Given the description of an element on the screen output the (x, y) to click on. 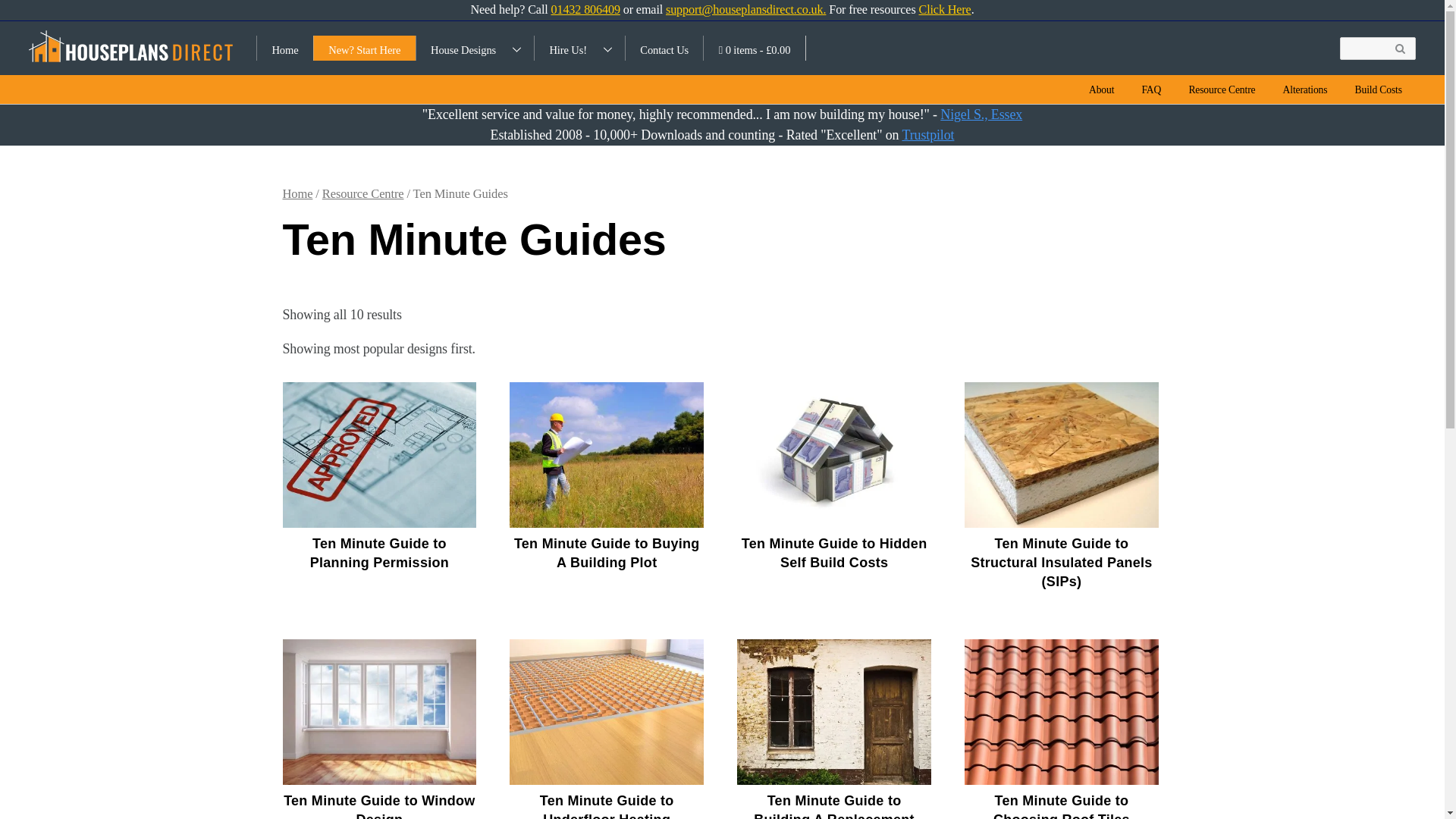
Houseplansdirect (130, 42)
Trustpilot (927, 134)
Resource Centre (1221, 89)
Build Costs (1377, 89)
Alterations (1304, 89)
New? Start Here (363, 48)
Nigel S., Essex (981, 114)
Contact Us (663, 48)
01432 806409 (585, 9)
Resource Centre (362, 193)
Start shopping (754, 48)
FAQ (1150, 89)
Hire Us! (579, 48)
Search (1377, 47)
Click Here (944, 9)
